Given the description of an element on the screen output the (x, y) to click on. 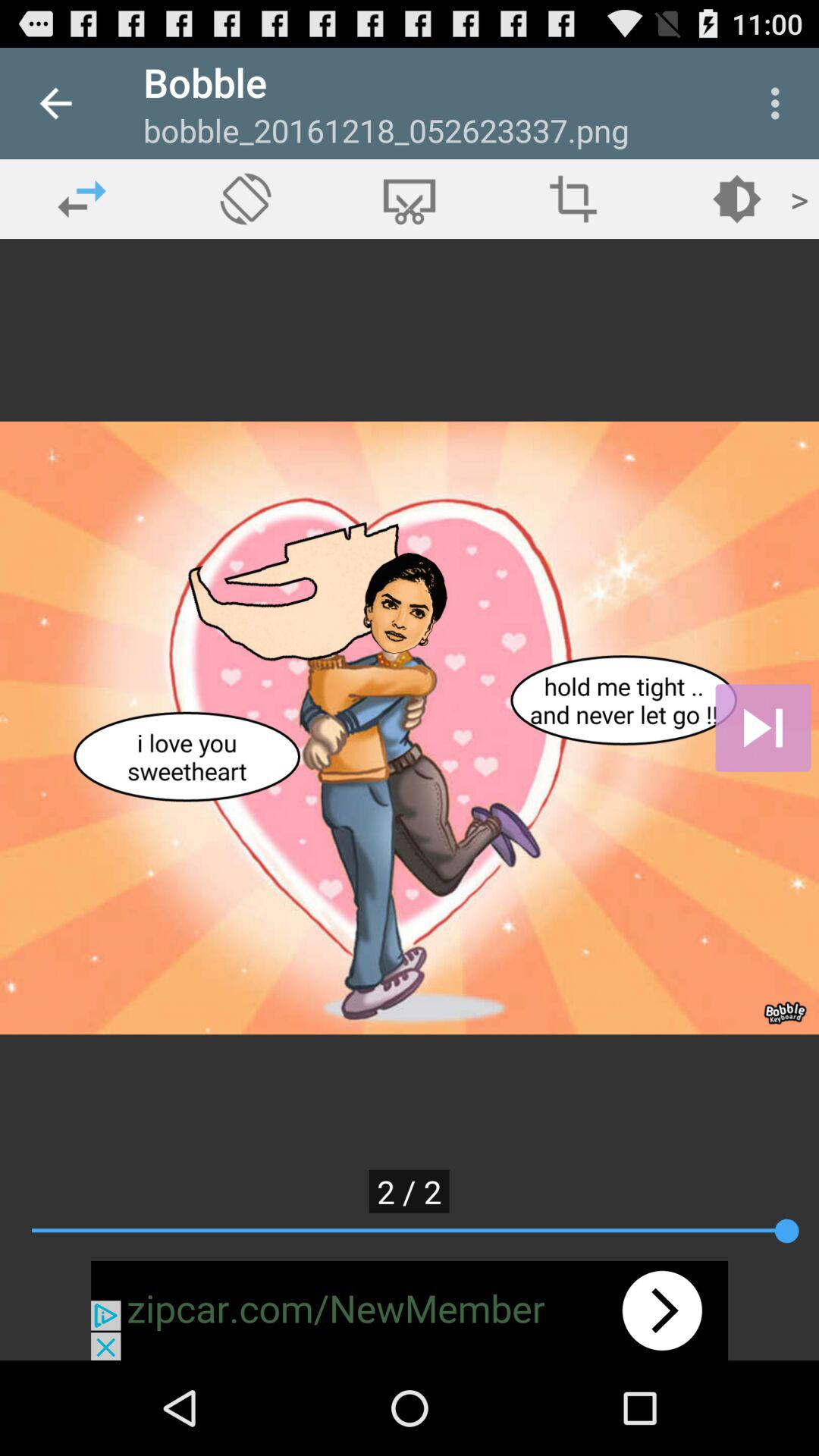
open brightness settings (737, 198)
